Given the description of an element on the screen output the (x, y) to click on. 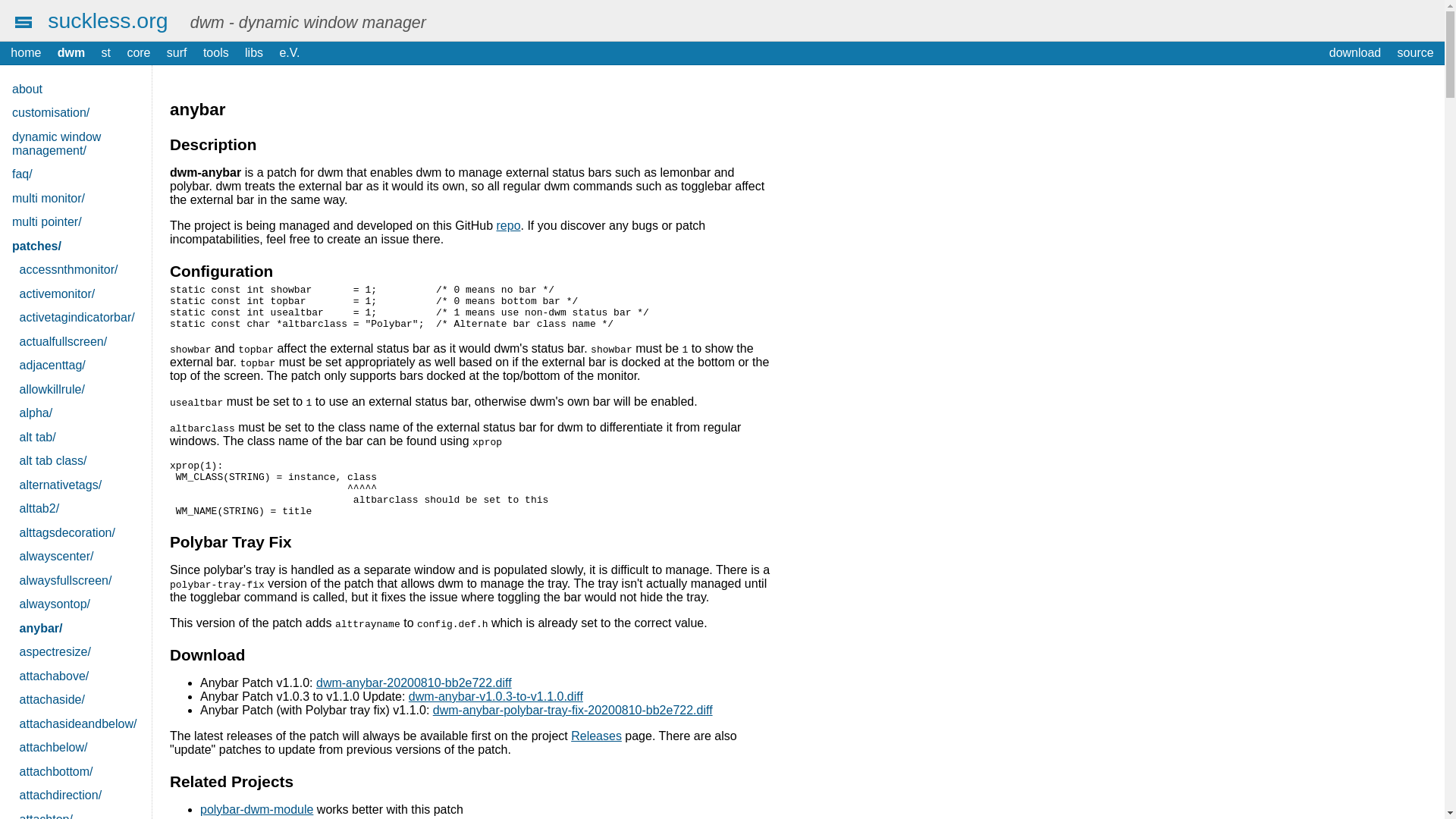
tools (215, 52)
core (138, 52)
e.V. (289, 52)
st (105, 52)
suckless.org (107, 20)
about (75, 88)
download (1354, 52)
source (1414, 52)
libs (253, 52)
surf (176, 52)
